Given the description of an element on the screen output the (x, y) to click on. 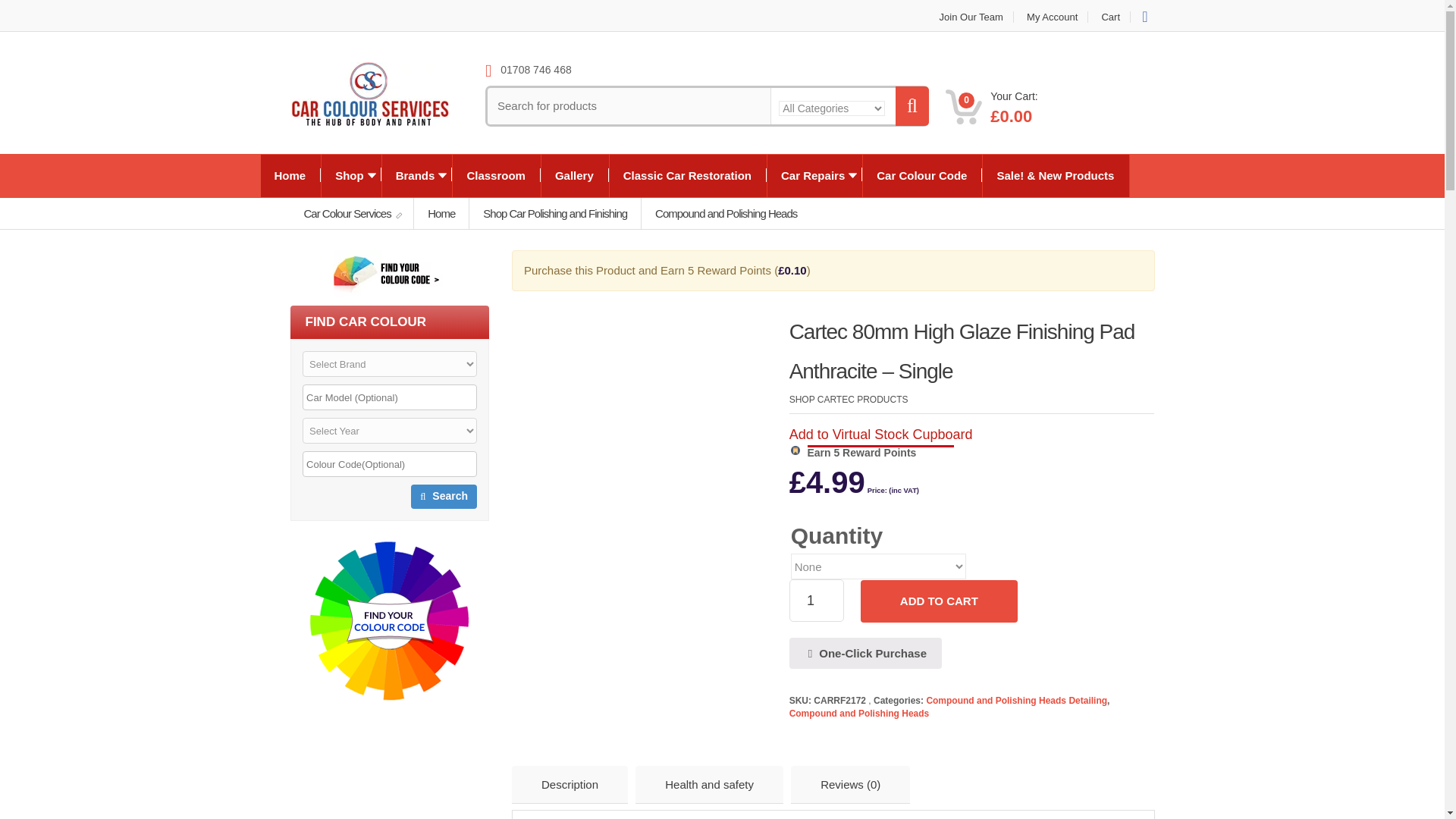
Facebook (1143, 15)
1 (816, 600)
My Account (1051, 16)
Facebook (1143, 15)
Cart (1110, 16)
Cart (1110, 16)
Join Our Team (971, 16)
My Account (1051, 16)
Join Our Team (971, 16)
